Given the description of an element on the screen output the (x, y) to click on. 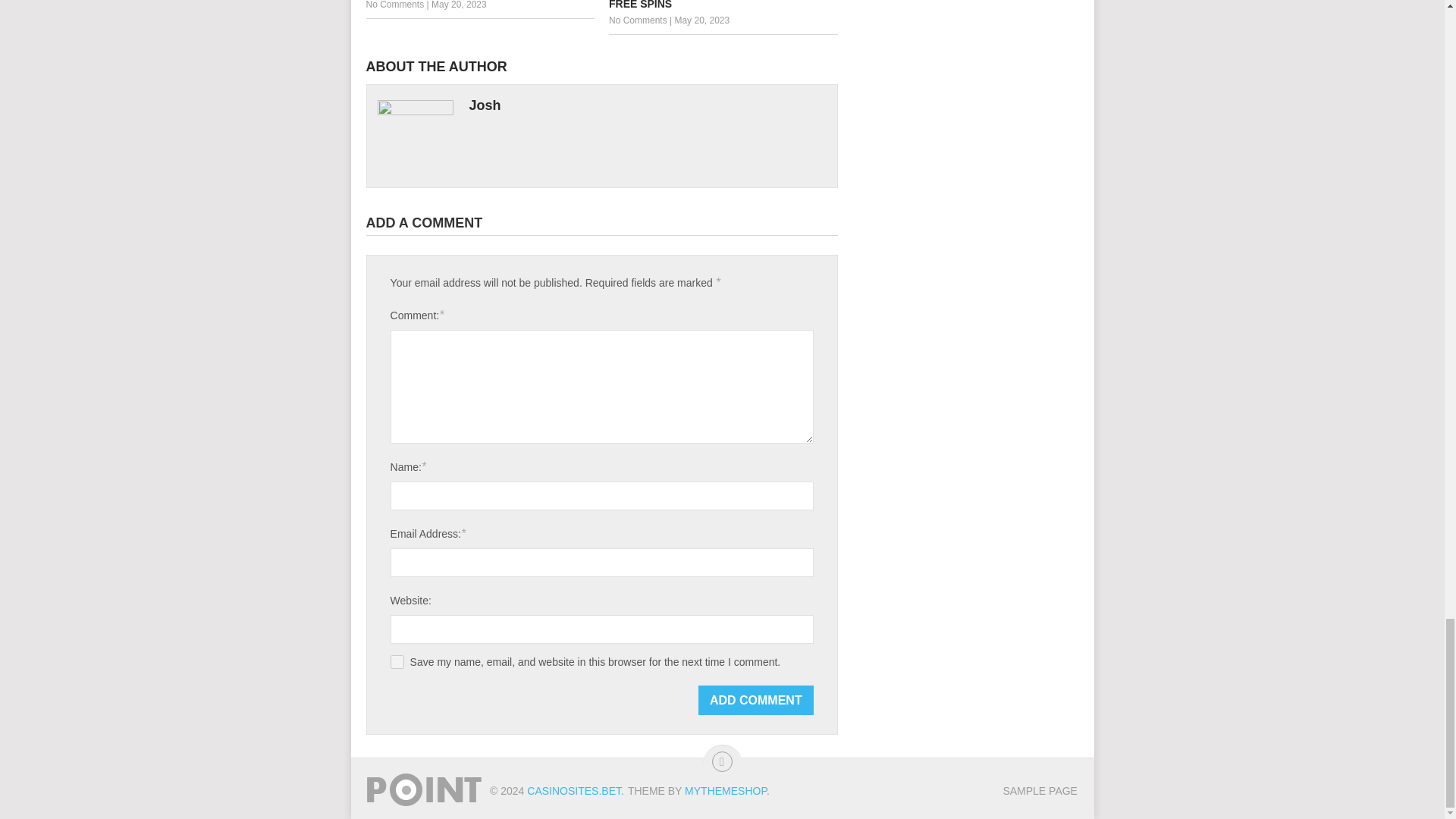
yes (397, 662)
Add Comment (755, 699)
